Given the description of an element on the screen output the (x, y) to click on. 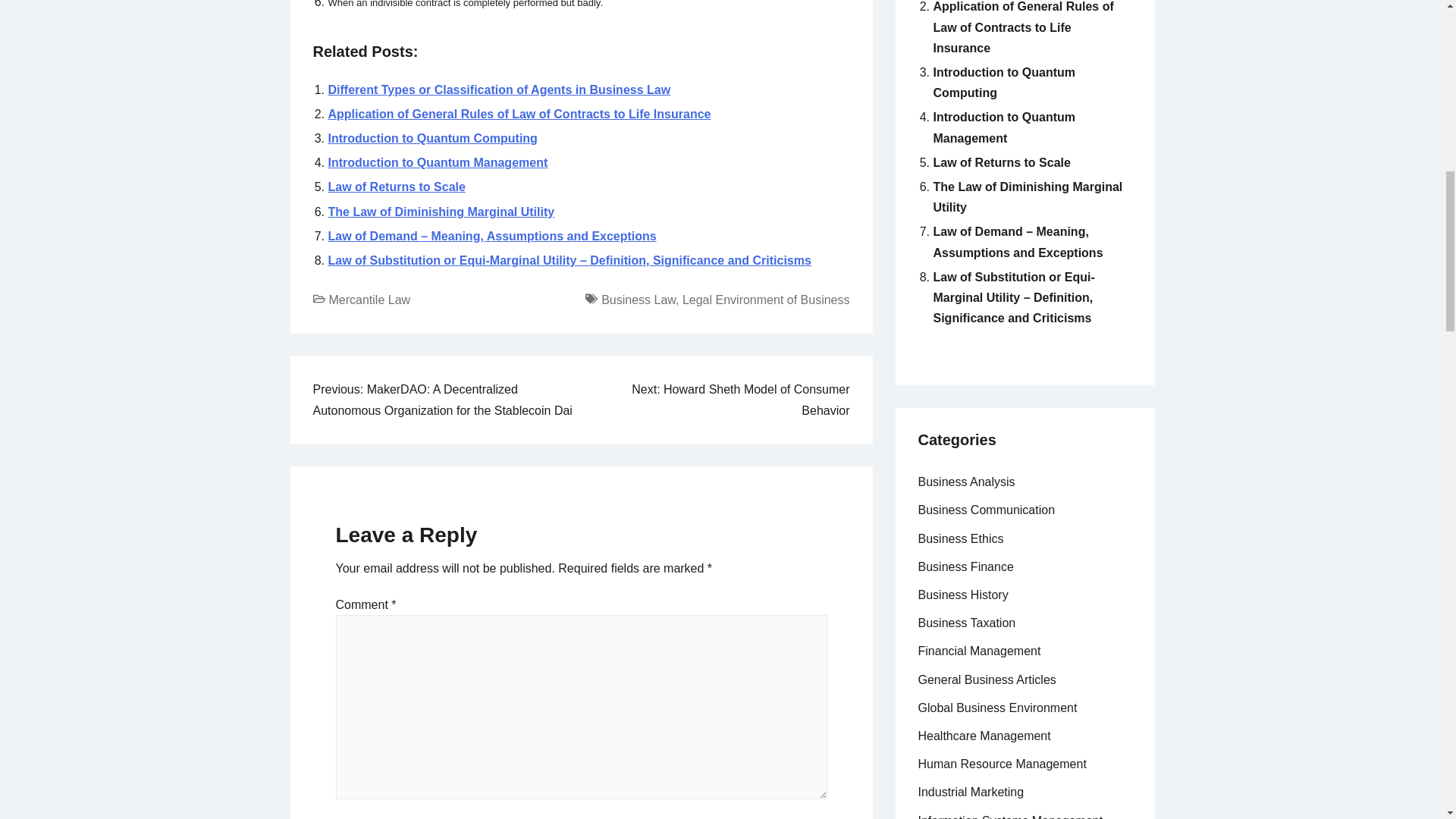
The Law of Diminishing Marginal Utility (440, 211)
The Law of Diminishing Marginal Utility (440, 211)
Law of Returns to Scale (395, 186)
Introduction to Quantum Computing (432, 137)
Introduction to Quantum Management (1004, 127)
Different Types or Classification of Agents in Business Law (498, 89)
Mercantile Law (369, 299)
Introduction to Quantum Management (437, 162)
